Given the description of an element on the screen output the (x, y) to click on. 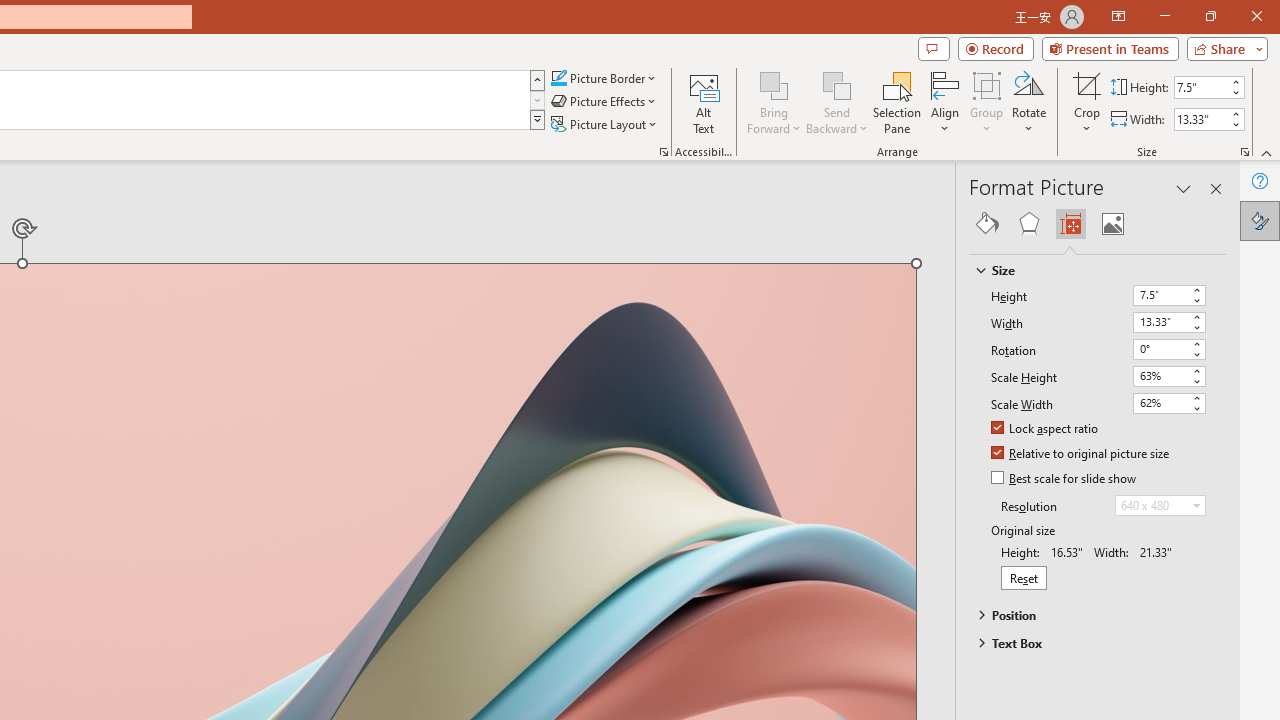
Send Backward (836, 84)
Rotation (1160, 348)
Scale Height (1168, 376)
Best scale for slide show (1065, 479)
Crop (1087, 84)
Align (945, 102)
Format Picture (1260, 220)
Relative to original picture size (1081, 453)
Lock aspect ratio (1046, 429)
